Given the description of an element on the screen output the (x, y) to click on. 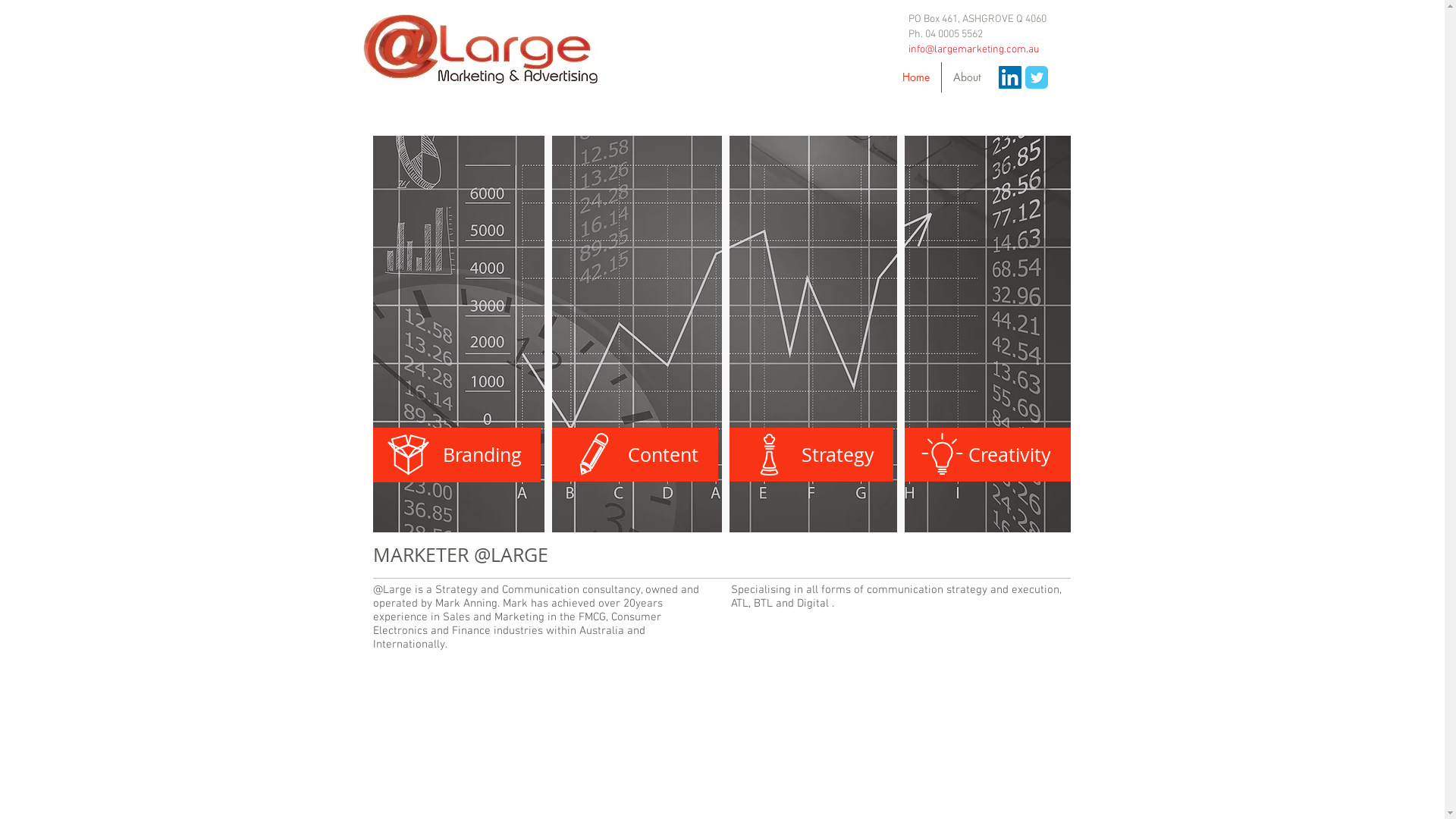
Stock Market Chart Element type: hover (721, 333)
Strategy Element type: text (808, 454)
_Large_Logo.jpg Element type: hover (479, 48)
Branding Element type: text (456, 454)
About Element type: text (966, 77)
Home Element type: text (915, 77)
info@largemarketing.com.au Element type: text (973, 49)
Creativity Element type: text (985, 454)
Content Element type: text (632, 454)
